Given the description of an element on the screen output the (x, y) to click on. 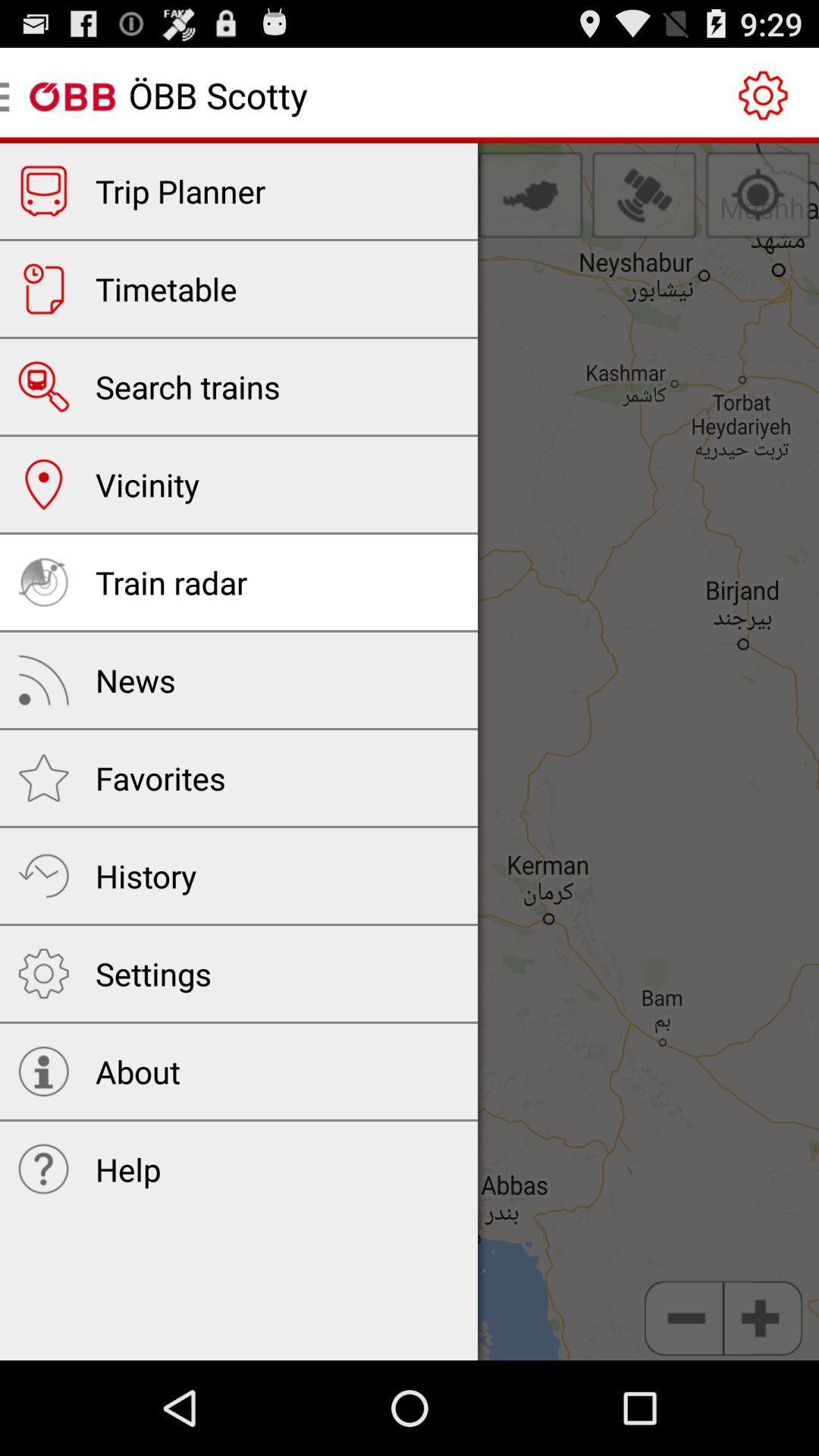
flip to the vicinity item (147, 484)
